Given the description of an element on the screen output the (x, y) to click on. 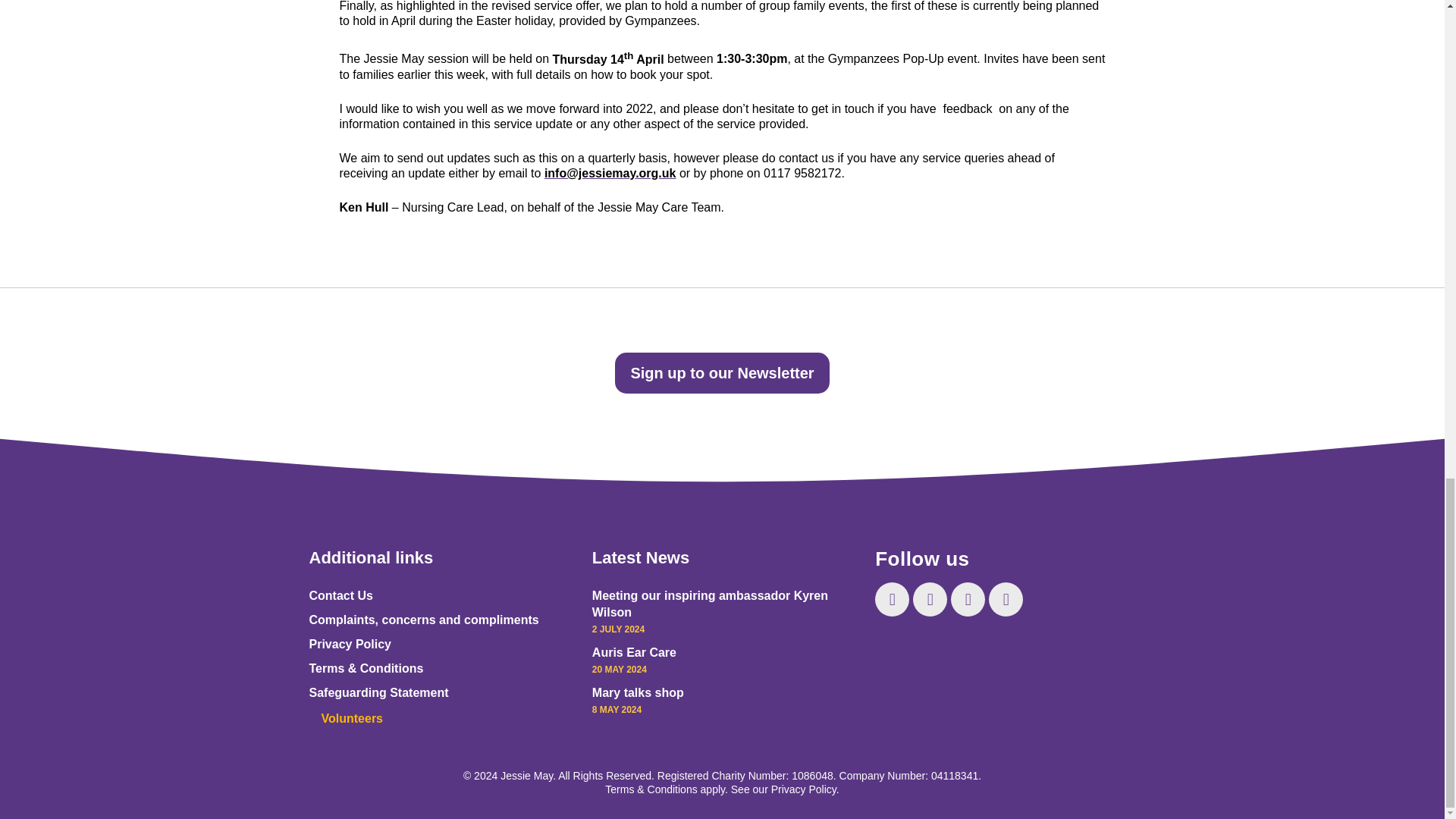
Jessie May Instagram (1005, 599)
Jessie May Facebook (891, 599)
Jessie May LinkedIn (967, 599)
Jessie May Twitter (929, 599)
